Given the description of an element on the screen output the (x, y) to click on. 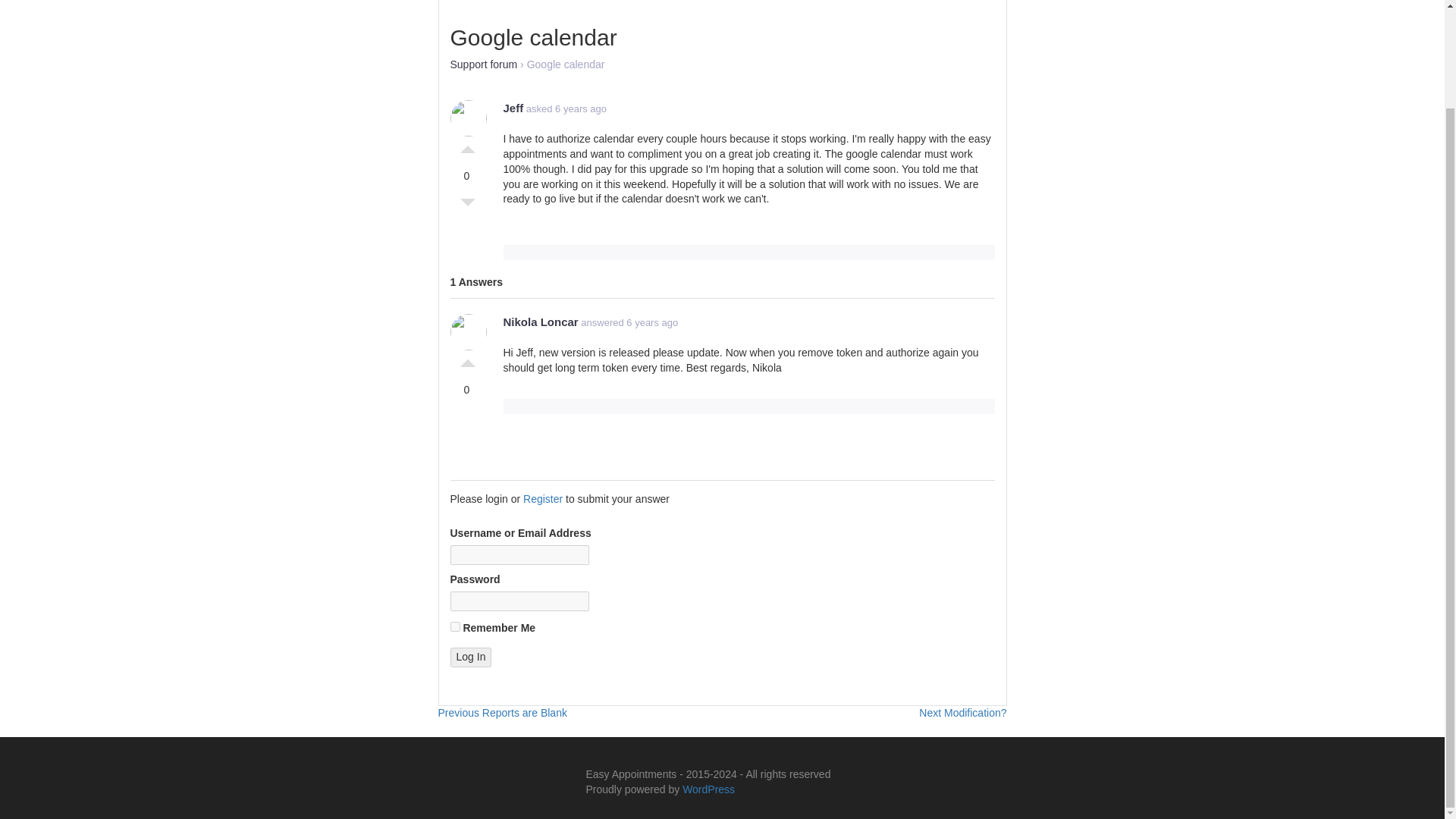
Log In (470, 657)
Vote Up (467, 145)
Support forum (483, 64)
WordPress (708, 788)
Vote Down (467, 206)
Register (542, 499)
forever (962, 712)
Log In (454, 626)
Vote Up (502, 712)
Nikola Loncar (470, 657)
Jeff (467, 359)
